Given the description of an element on the screen output the (x, y) to click on. 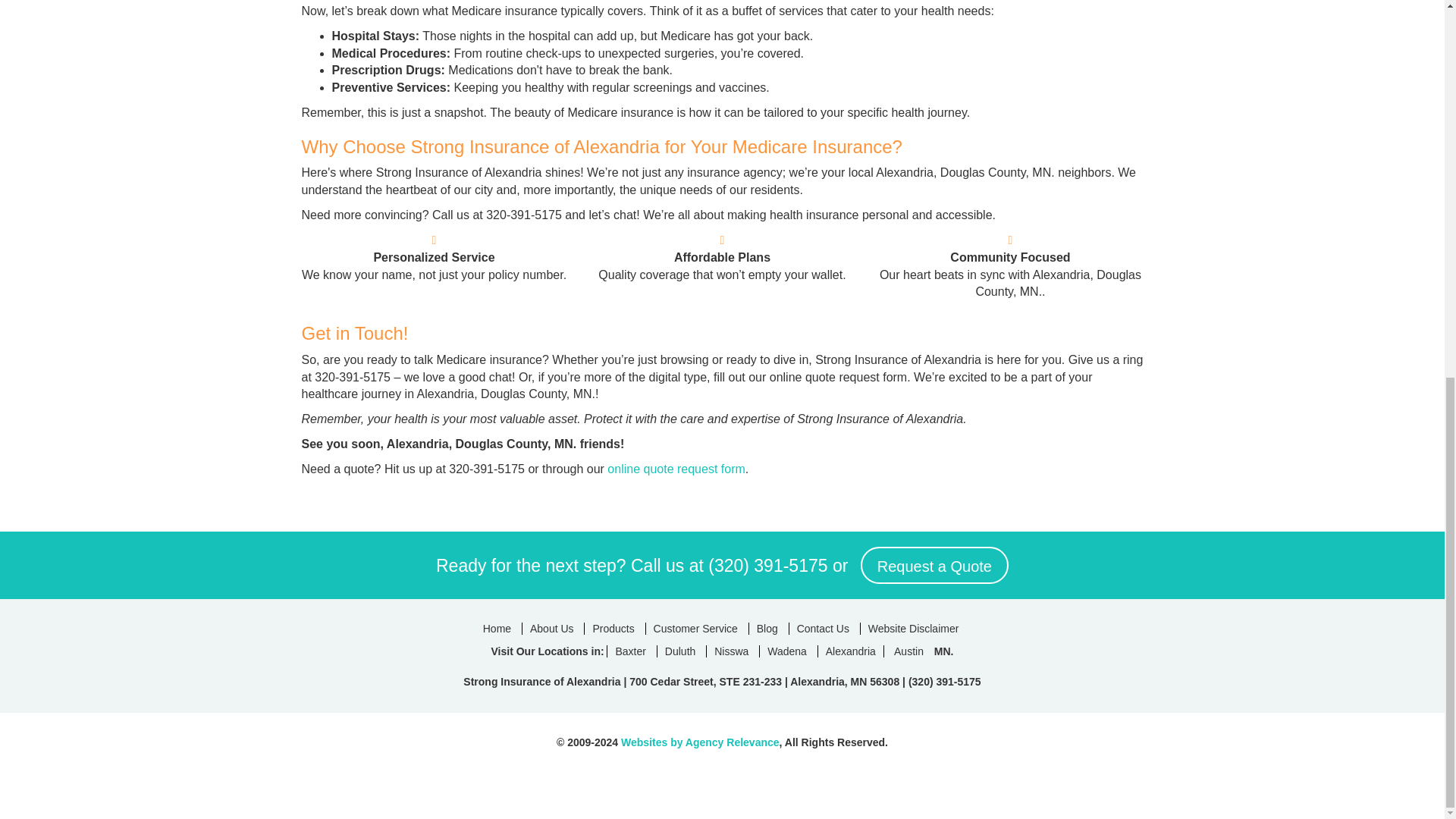
Home (497, 628)
online quote request form (675, 468)
Request a Quote (934, 565)
